Given the description of an element on the screen output the (x, y) to click on. 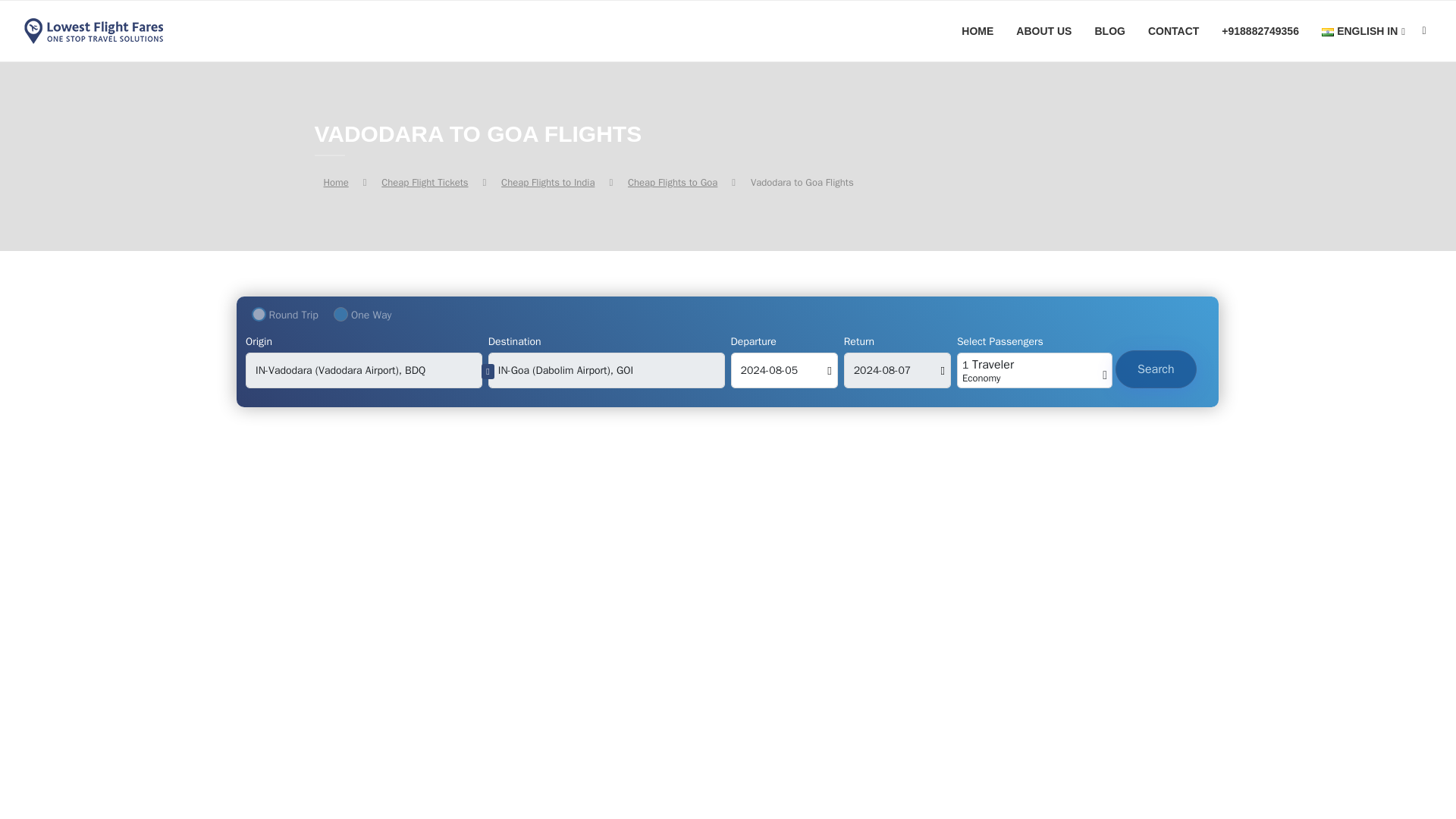
round (258, 314)
Search (1155, 369)
Cheap Flights to Goa (672, 182)
2024-08-05 (784, 370)
ENGLISH IN (1363, 31)
ABOUT US (1043, 30)
Home (335, 182)
2024-08-07 (897, 370)
oneway (340, 314)
Cheap Flight Tickets (424, 182)
